Given the description of an element on the screen output the (x, y) to click on. 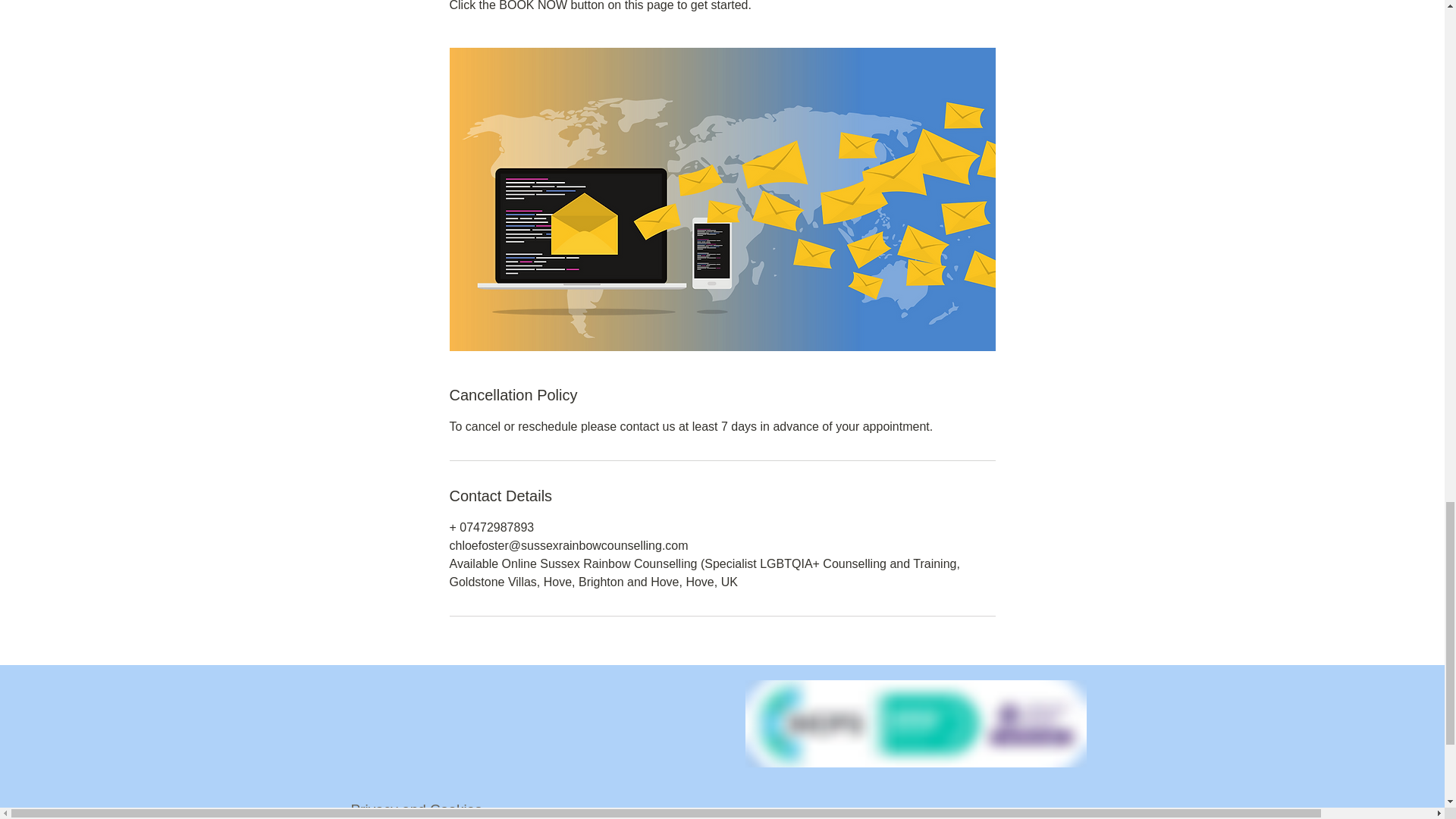
Privacy and Cookies Policy (415, 810)
